Given the description of an element on the screen output the (x, y) to click on. 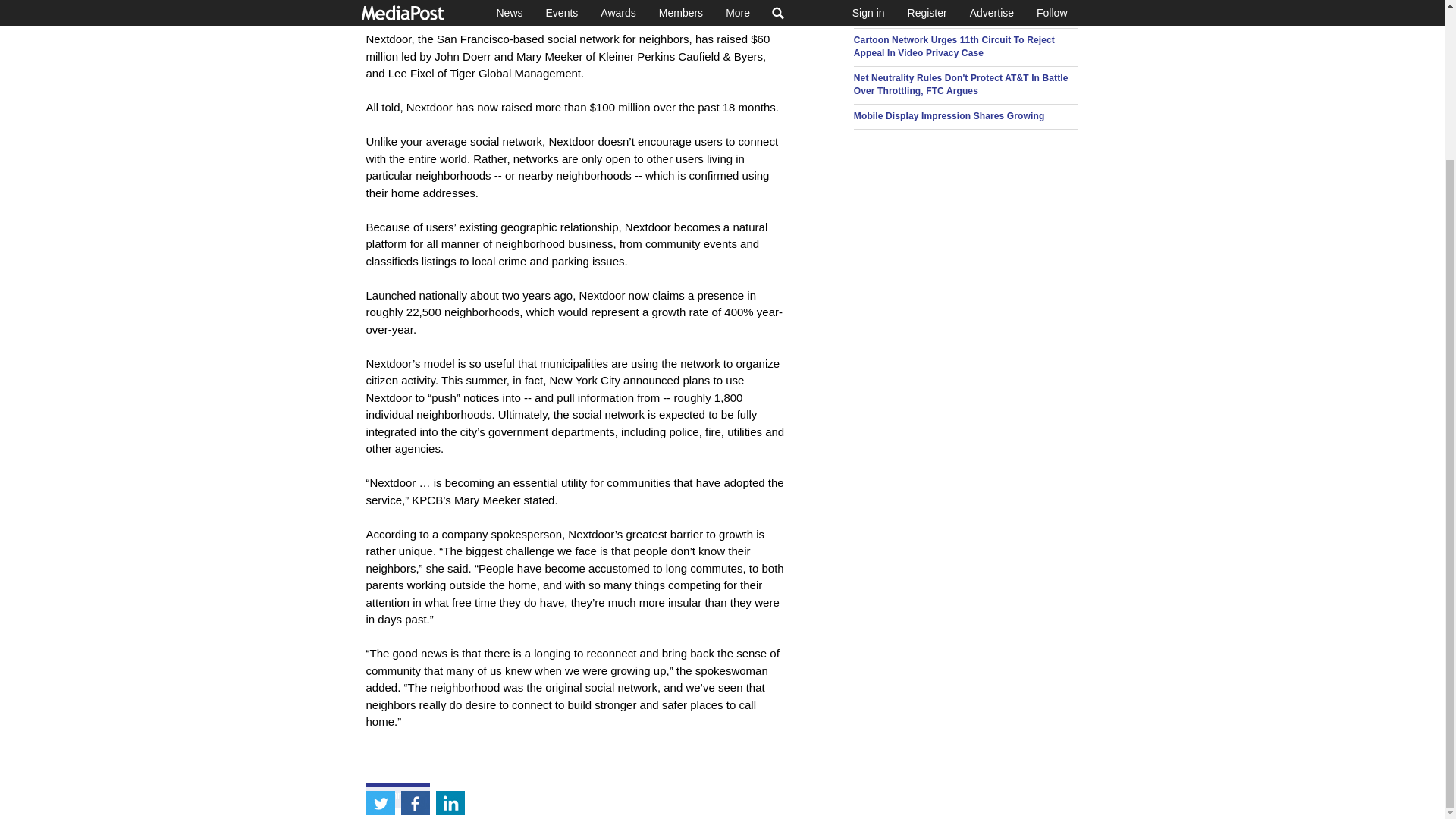
Share on Facebook (414, 614)
Share on LinkedIn (449, 614)
Share on Twitter (379, 614)
